Given the description of an element on the screen output the (x, y) to click on. 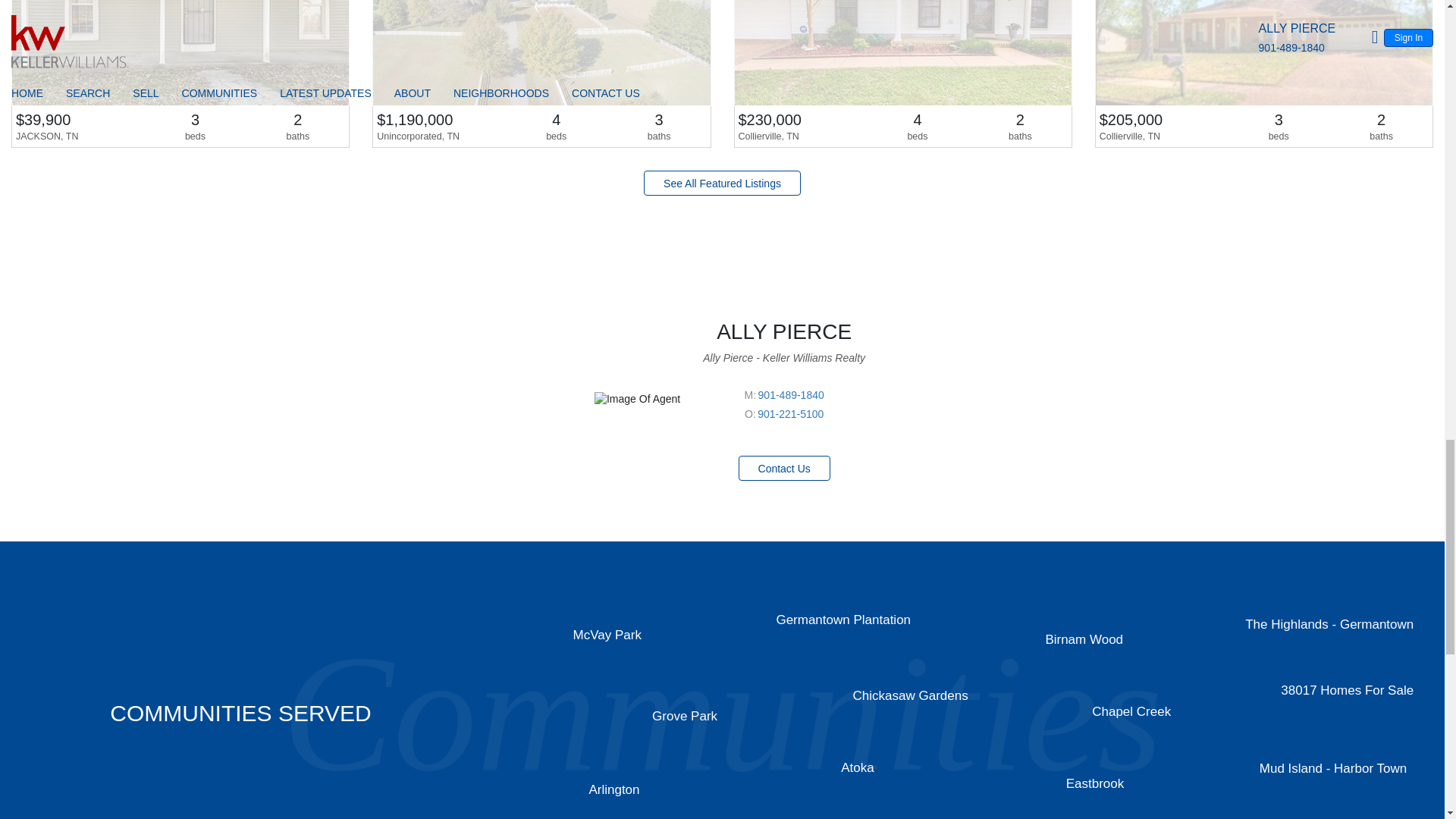
Featured Property (541, 74)
Chickasaw Gardens (910, 695)
See All Featured Listings (721, 182)
Germantown Plantation (843, 619)
McVay Park (607, 635)
38017 Homes For Sale (1347, 690)
Chapel Creek (1131, 711)
901-489-1840 (791, 395)
901-221-5100 (790, 413)
Featured Property (1263, 74)
The Highlands - Germantown (1328, 624)
Grove Park (684, 716)
Featured Property (902, 74)
Contact Us (783, 467)
Birnam Wood (1083, 639)
